Given the description of an element on the screen output the (x, y) to click on. 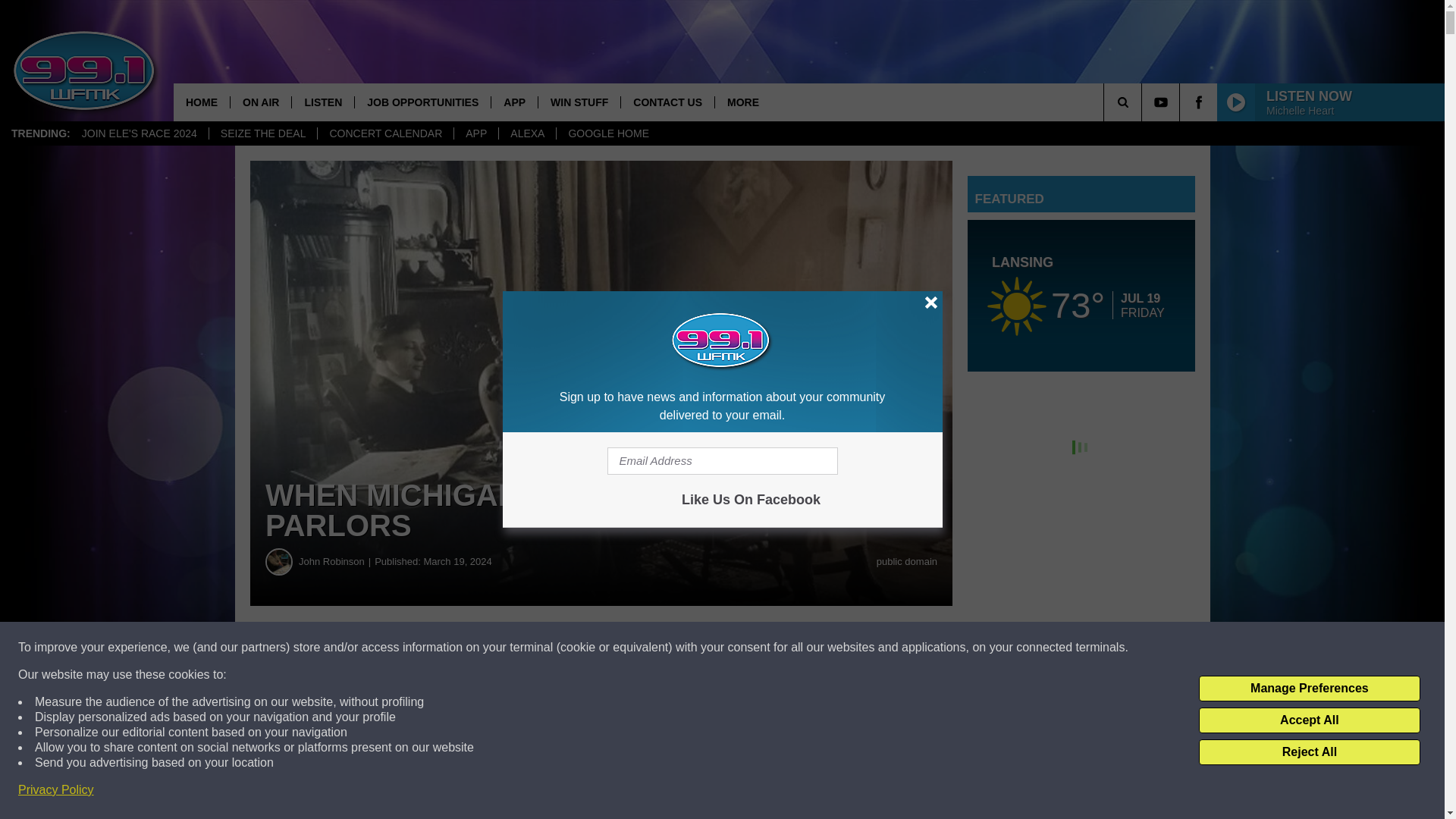
SEARCH (1144, 102)
CONTACT US (667, 102)
Privacy Policy (55, 789)
Accept All (1309, 720)
Share on Facebook (460, 647)
Lansing Weather (1081, 295)
ALEXA (526, 133)
GOOGLE HOME (608, 133)
APP (513, 102)
Share on Twitter (741, 647)
APP (474, 133)
JOB OPPORTUNITIES (421, 102)
SEIZE THE DEAL (262, 133)
HOME (201, 102)
Manage Preferences (1309, 688)
